Given the description of an element on the screen output the (x, y) to click on. 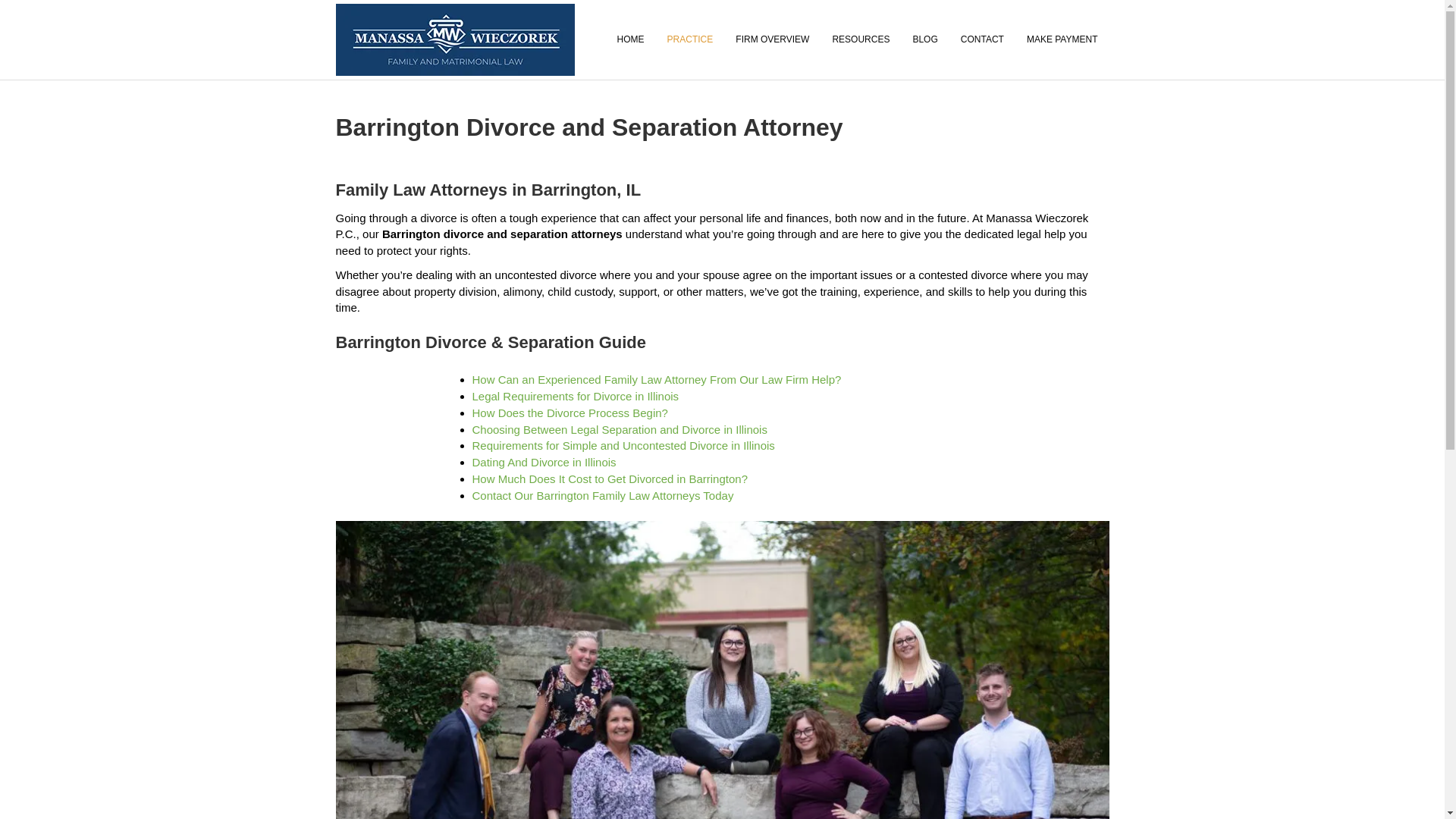
HOME (630, 39)
Manassa Law P.C. (630, 39)
PRACTICE (690, 39)
